Given the description of an element on the screen output the (x, y) to click on. 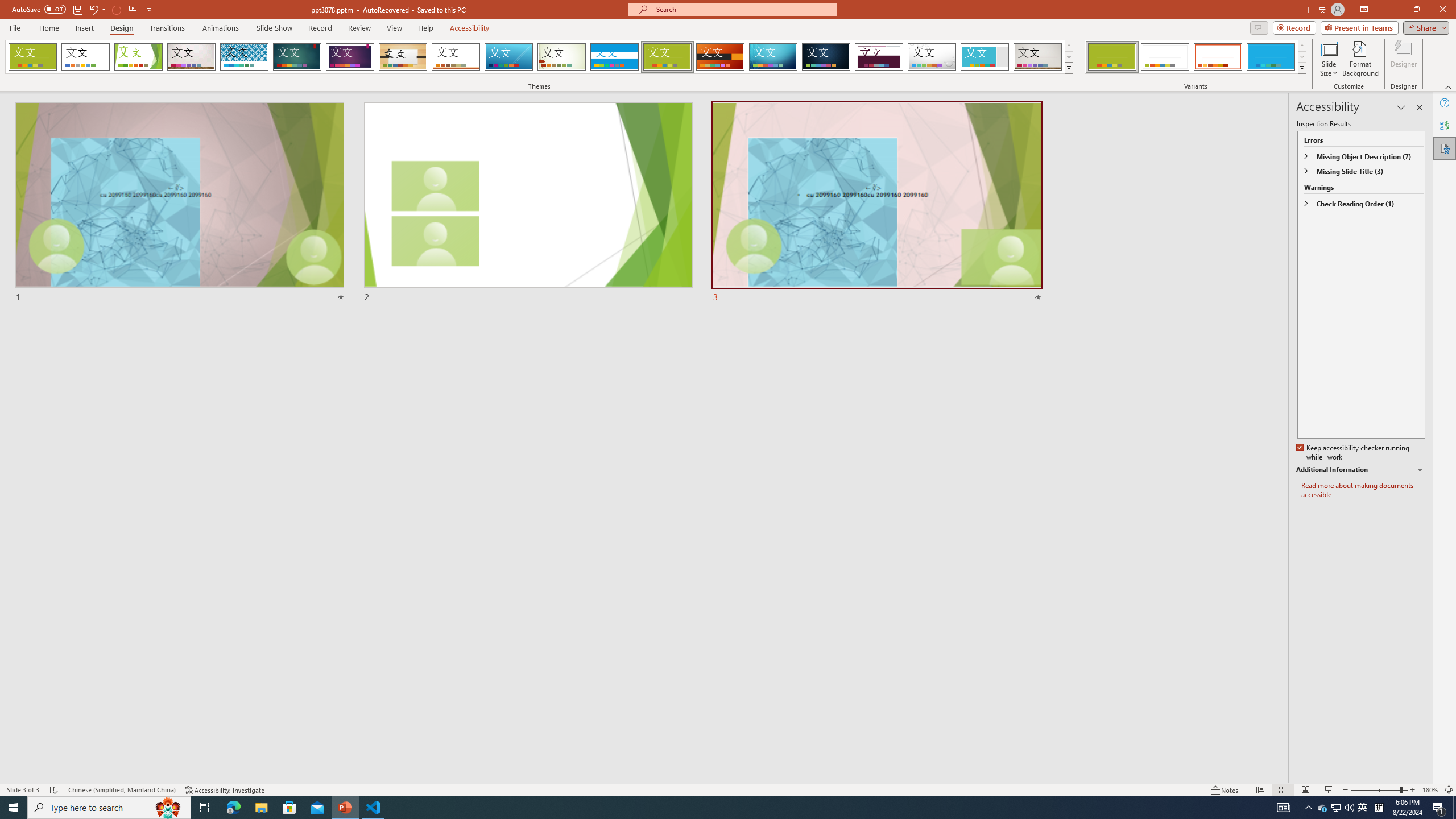
Dividend (879, 56)
Ion Boardroom (350, 56)
Facet (138, 56)
Berlin (720, 56)
Variants (1301, 67)
Slice (508, 56)
Basis (667, 56)
Additional Information (1360, 469)
Frame (984, 56)
